Given the description of an element on the screen output the (x, y) to click on. 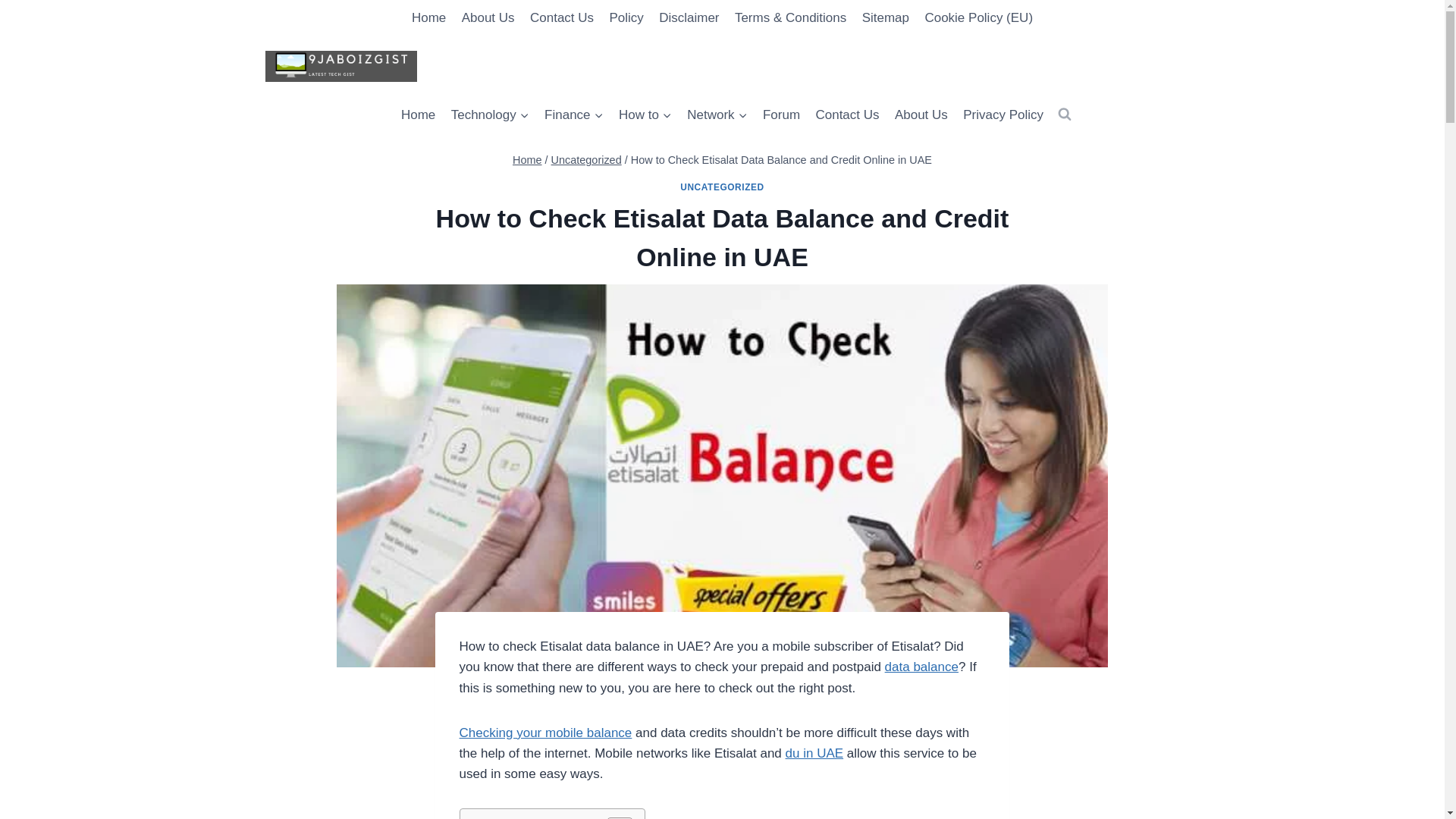
Sitemap (885, 18)
About Us (920, 115)
Technology (488, 115)
Home (429, 18)
Finance (574, 115)
Contact Us (847, 115)
Home (418, 115)
Policy (625, 18)
Forum (781, 115)
Network (717, 115)
